Given the description of an element on the screen output the (x, y) to click on. 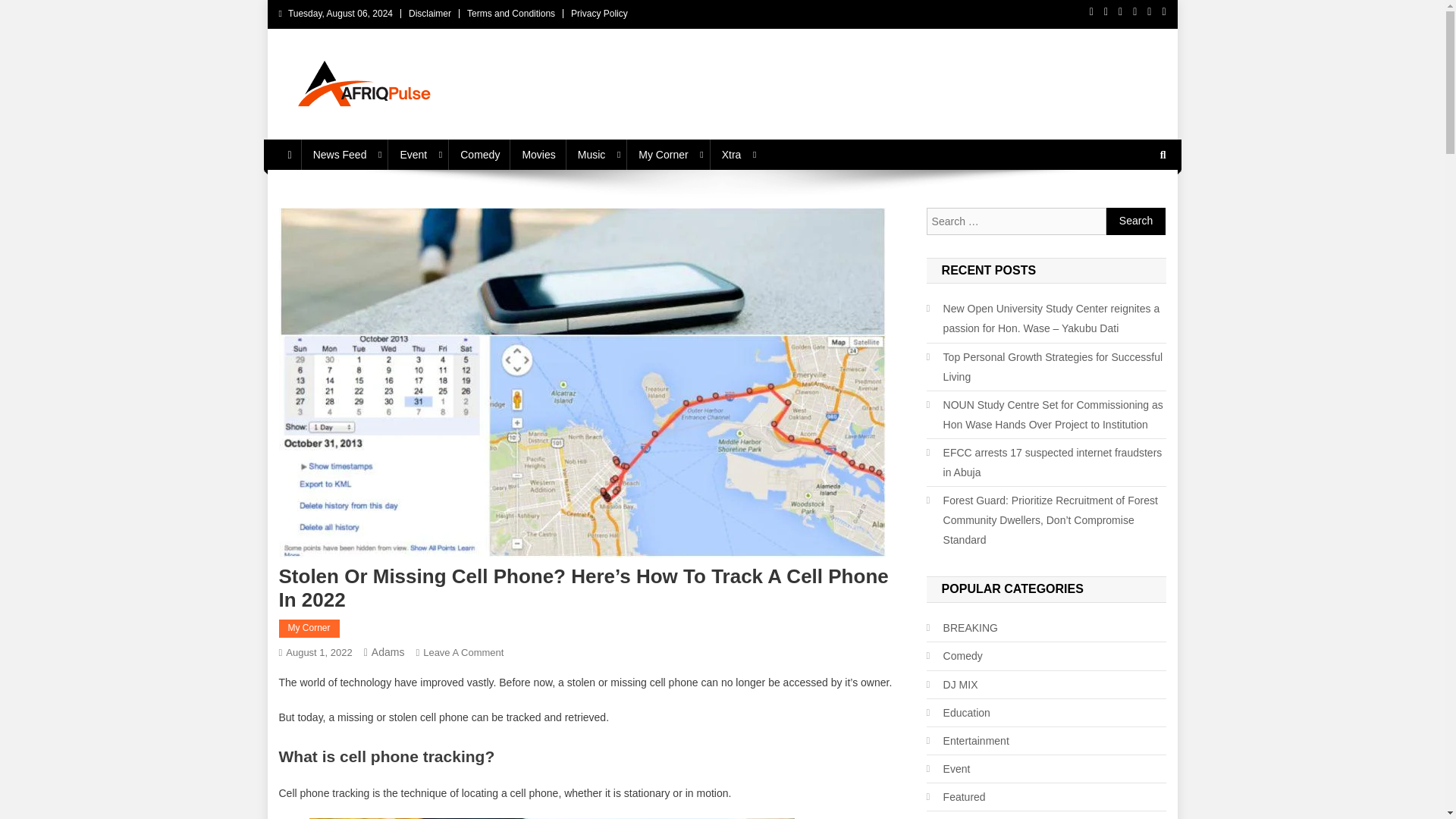
Disclaimer (430, 13)
My Corner (668, 154)
Terms and Conditions (510, 13)
Music (597, 154)
Search (1136, 221)
AfriqPulseTv (353, 124)
Movies (538, 154)
Event (418, 154)
News Feed (345, 154)
Privacy Policy (598, 13)
Search (1136, 221)
Xtra (737, 154)
Comedy (480, 154)
